Given the description of an element on the screen output the (x, y) to click on. 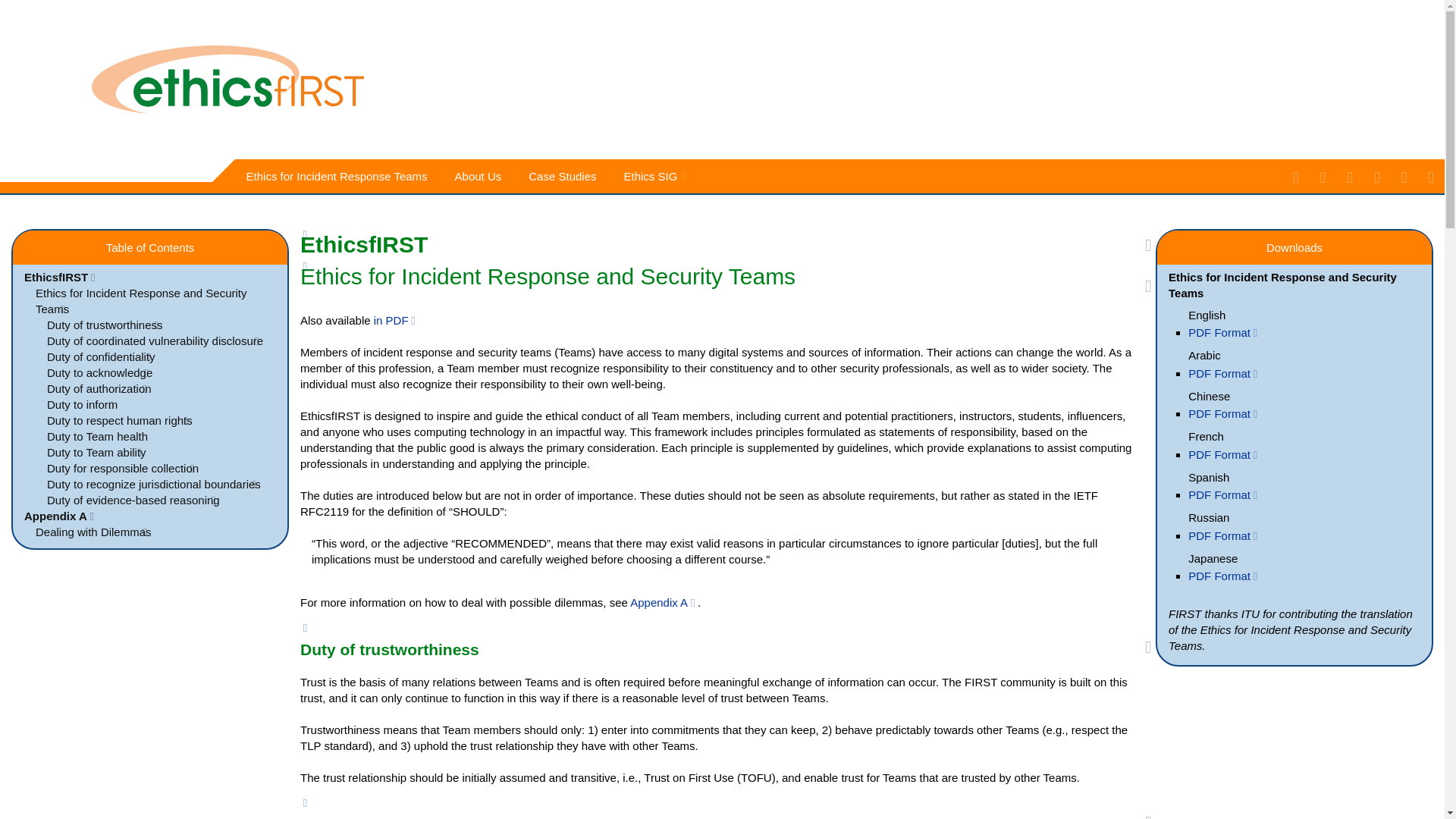
Duty of confidentiality (97, 356)
Arabic (1193, 354)
Case Studies (563, 175)
Appendix A (663, 602)
EthicsfIRST (60, 277)
Ethics for Incident Response Teams (339, 175)
Chinese (1198, 395)
Ethics for Incident Response and Security Teams (135, 300)
About Us (481, 175)
Duty of coordinated vulnerability disclosure (151, 340)
